Given the description of an element on the screen output the (x, y) to click on. 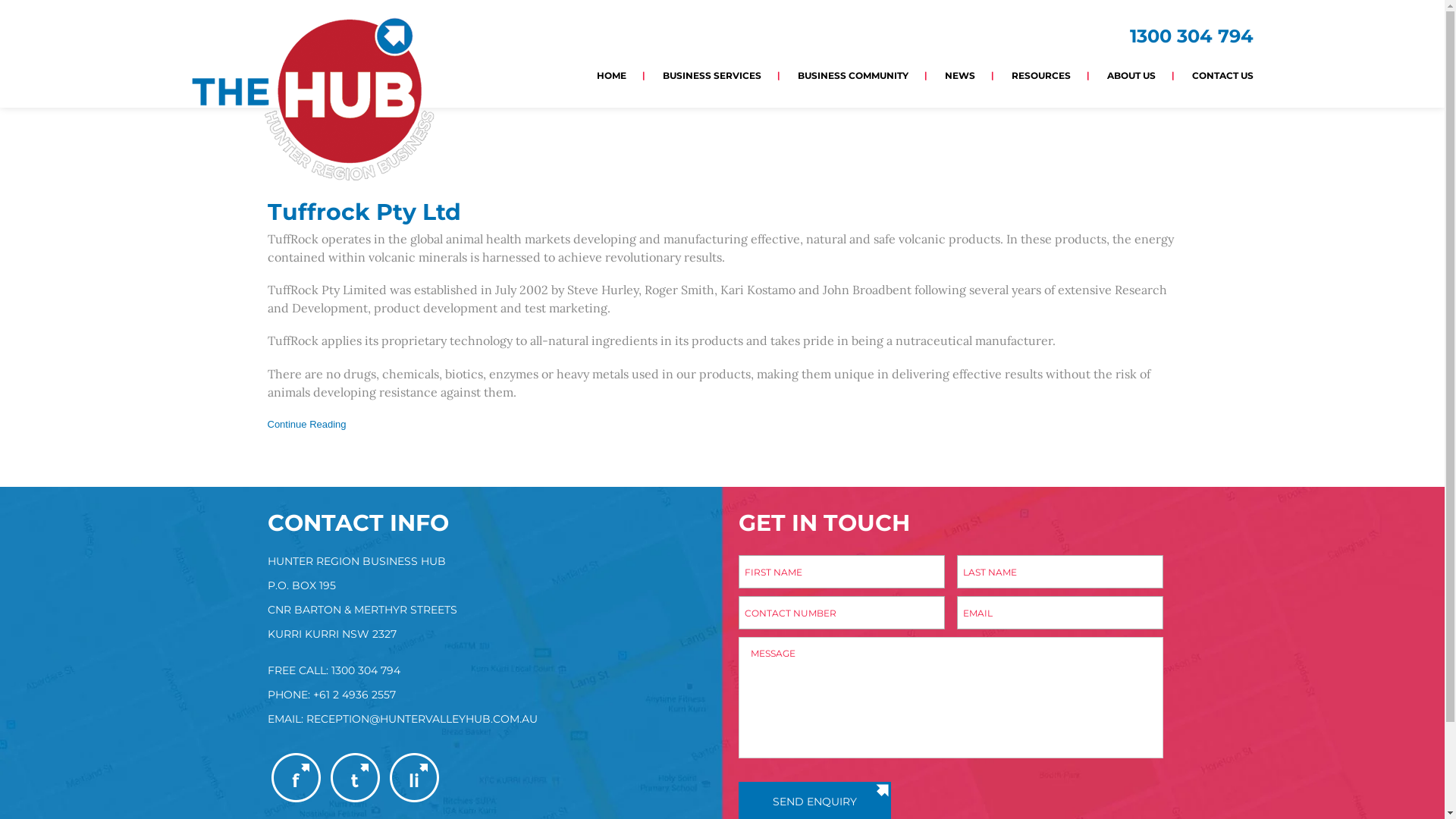
HOME Element type: text (610, 74)
RECEPTION@HUNTERVALLEYHUB.COM.AU Element type: text (421, 718)
BUSINESS COMMUNITY Element type: text (852, 74)
ABOUT US Element type: text (1130, 74)
1300 304 794 Element type: text (1191, 36)
NEWS Element type: text (959, 74)
Tuffrock Pty Ltd Element type: text (363, 211)
CONTACT US Element type: text (1213, 74)
BUSINESS SERVICES Element type: text (711, 74)
RESOURCES Element type: text (1040, 74)
Continue Reading Element type: text (305, 423)
